Given the description of an element on the screen output the (x, y) to click on. 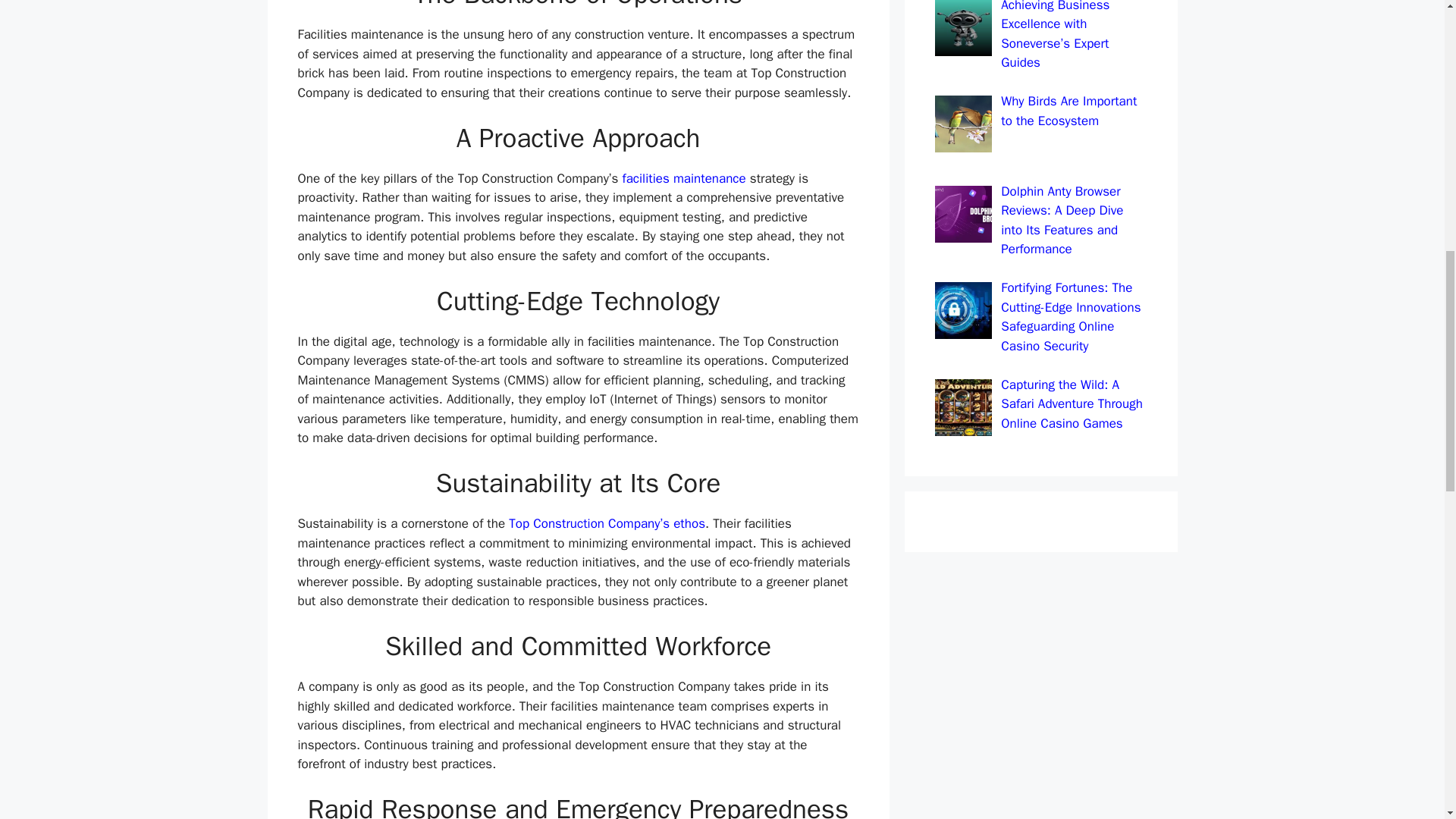
Why Birds Are Important to the Ecosystem (1069, 110)
facilities maintenance (684, 178)
